Given the description of an element on the screen output the (x, y) to click on. 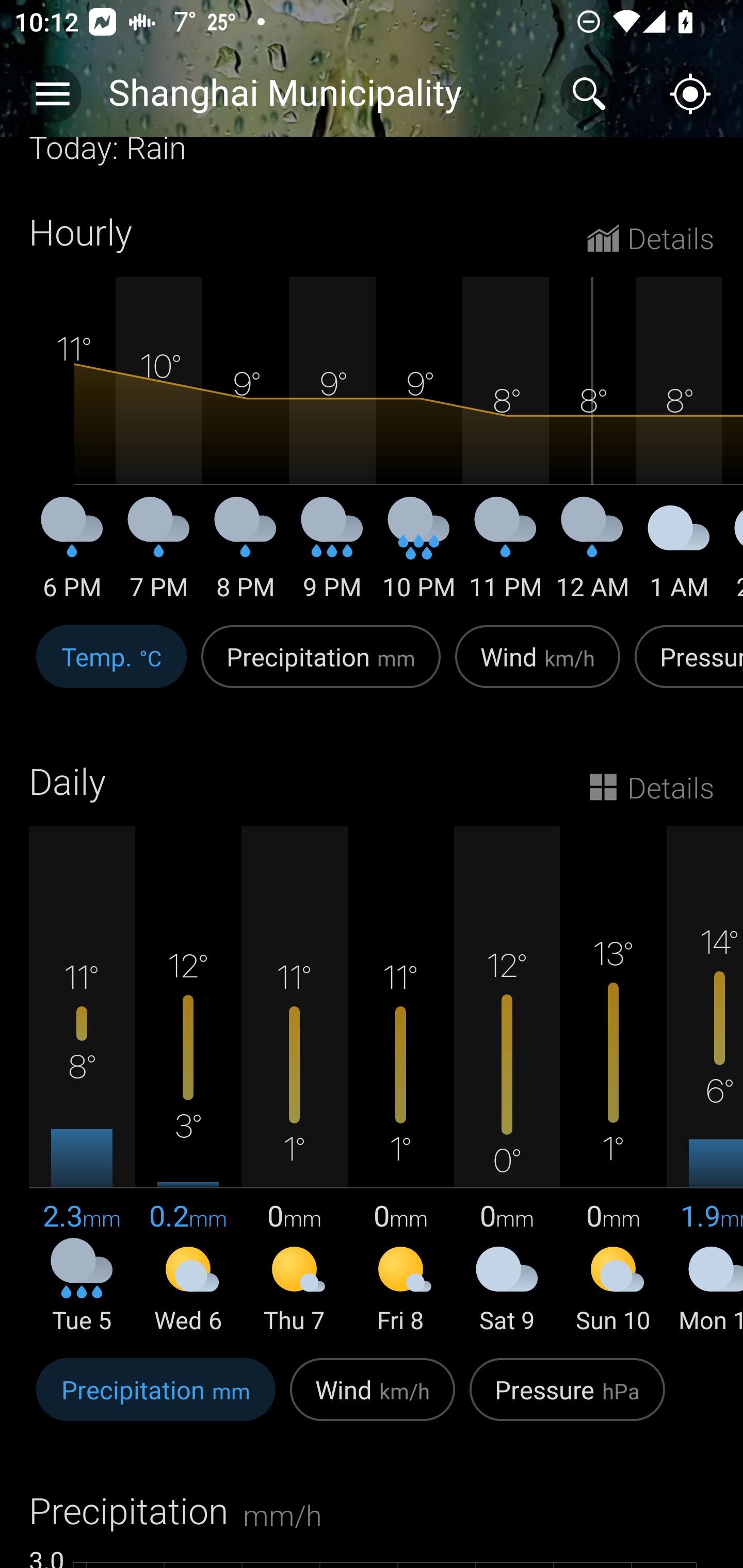
6 PM (71, 555)
7 PM (158, 555)
8 PM (245, 555)
9 PM (332, 555)
10 PM (418, 555)
11 PM (505, 555)
12 AM (592, 555)
1 AM (679, 555)
Temp. °C (110, 666)
Precipitation mm (320, 666)
Wind km/h (537, 666)
Pressure (685, 666)
11° 8° 2.3 mm Tue 5 (81, 1080)
12° 3° 0.2 mm Wed 6 (188, 1080)
11° 1° 0 mm Thu 7 (294, 1080)
11° 1° 0 mm Fri 8 (400, 1080)
12° 0° 0 mm Sat 9 (506, 1080)
13° 1° 0 mm Sun 10 (613, 1080)
14° 6° 1.9 mm Mon 11 (704, 1080)
Precipitation mm (155, 1400)
Wind km/h (372, 1400)
Pressure hPa (567, 1400)
